Given the description of an element on the screen output the (x, y) to click on. 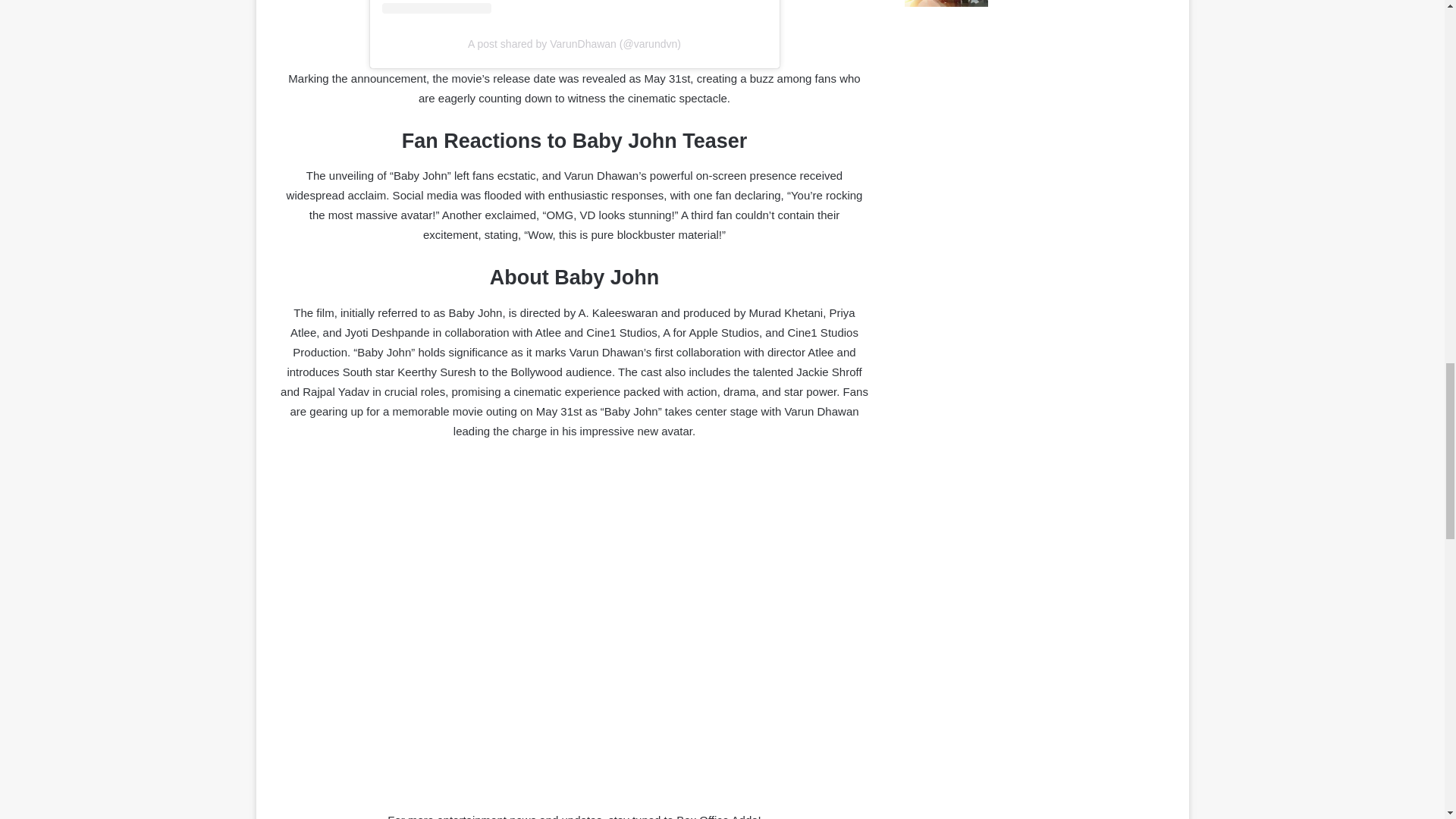
View this post on Instagram (574, 7)
